Given the description of an element on the screen output the (x, y) to click on. 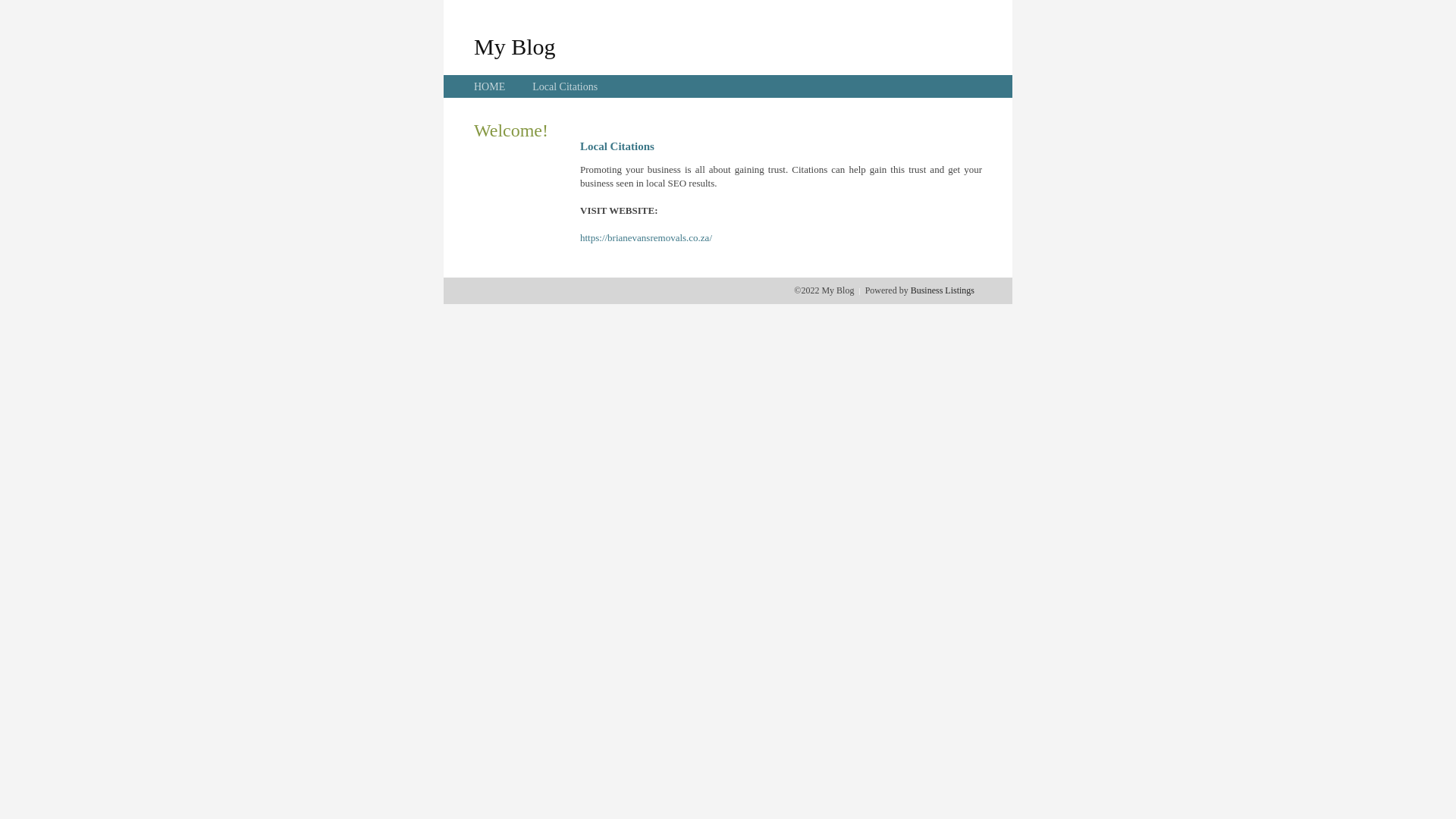
My Blog Element type: text (514, 46)
HOME Element type: text (489, 86)
Local Citations Element type: text (564, 86)
Business Listings Element type: text (942, 290)
https://brianevansremovals.co.za/ Element type: text (646, 237)
